Given the description of an element on the screen output the (x, y) to click on. 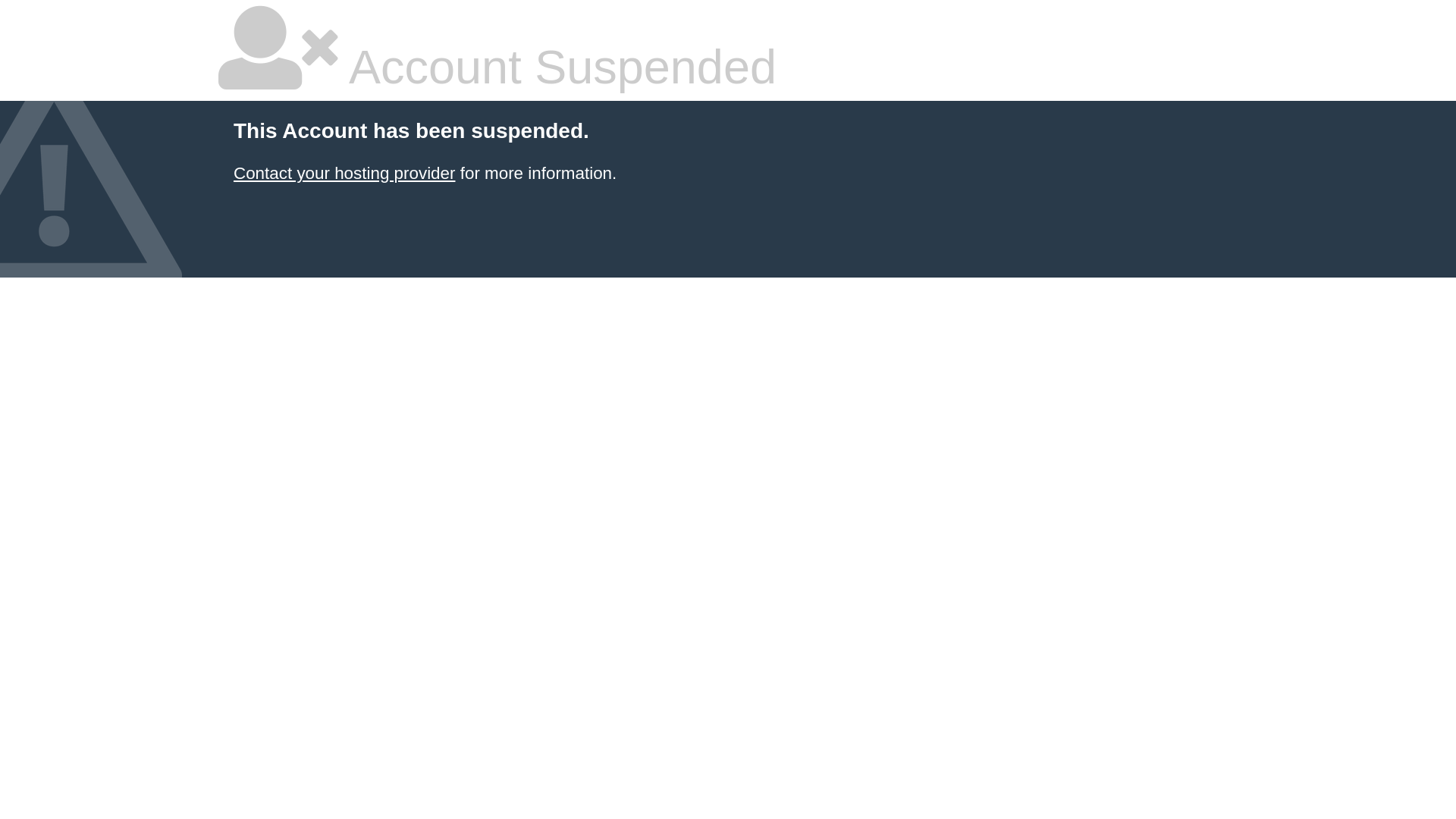
Contact your hosting provider Element type: text (344, 172)
